Given the description of an element on the screen output the (x, y) to click on. 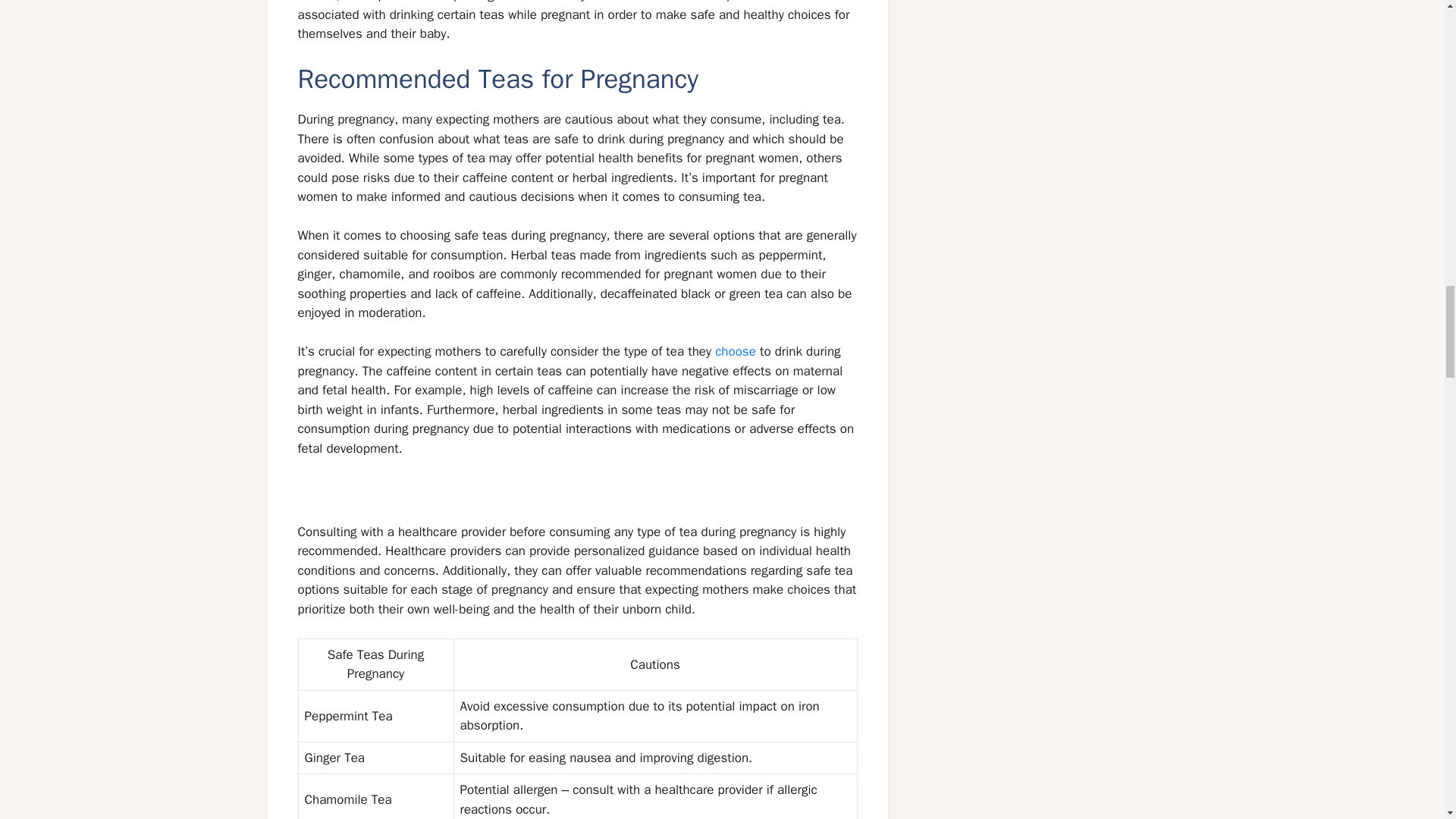
choose (734, 351)
